Given the description of an element on the screen output the (x, y) to click on. 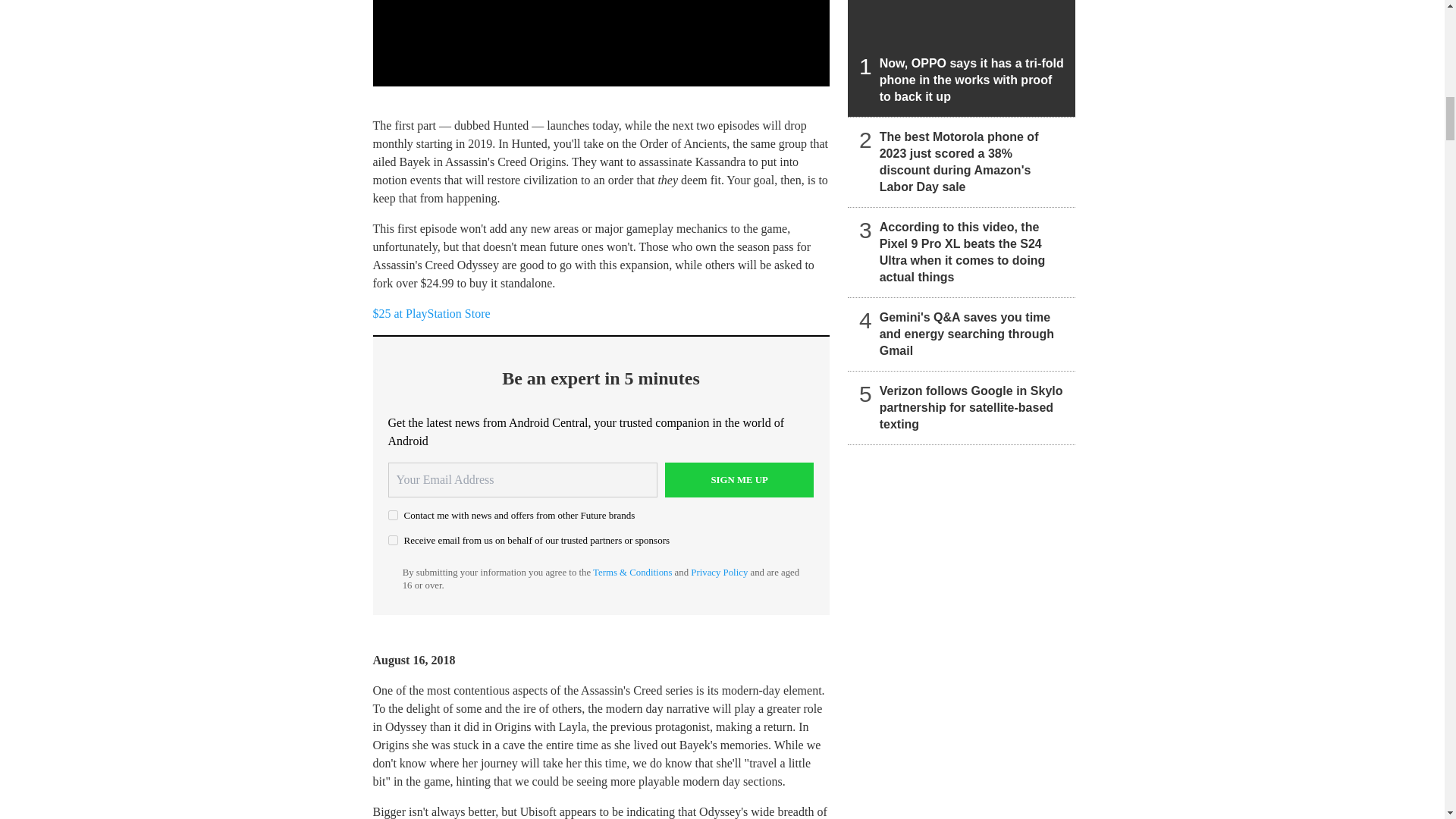
on (392, 540)
on (392, 515)
Sign me up (739, 479)
